Given the description of an element on the screen output the (x, y) to click on. 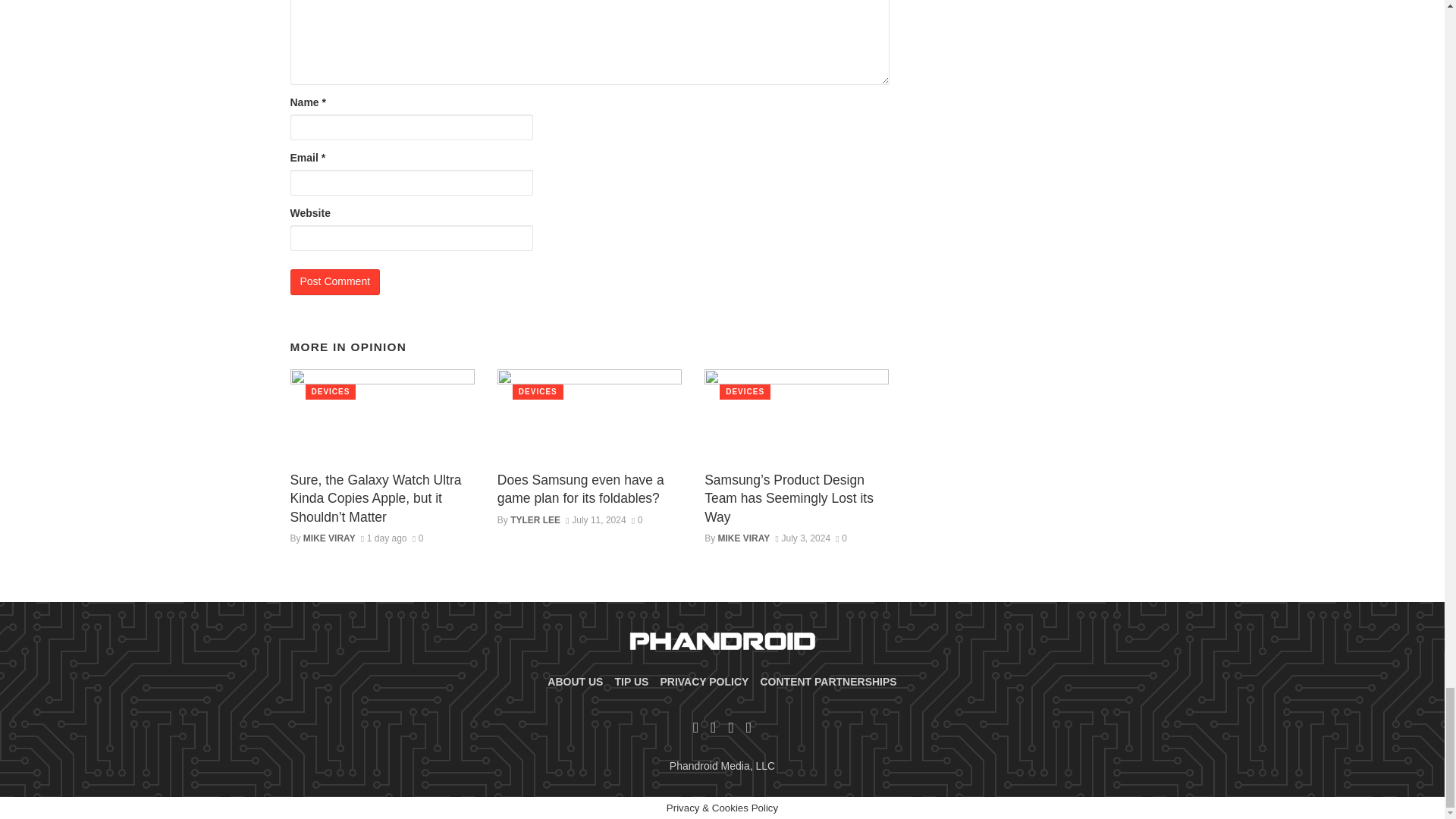
Post Comment (334, 281)
July 25, 2024 at 5:58 pm (384, 538)
